Given the description of an element on the screen output the (x, y) to click on. 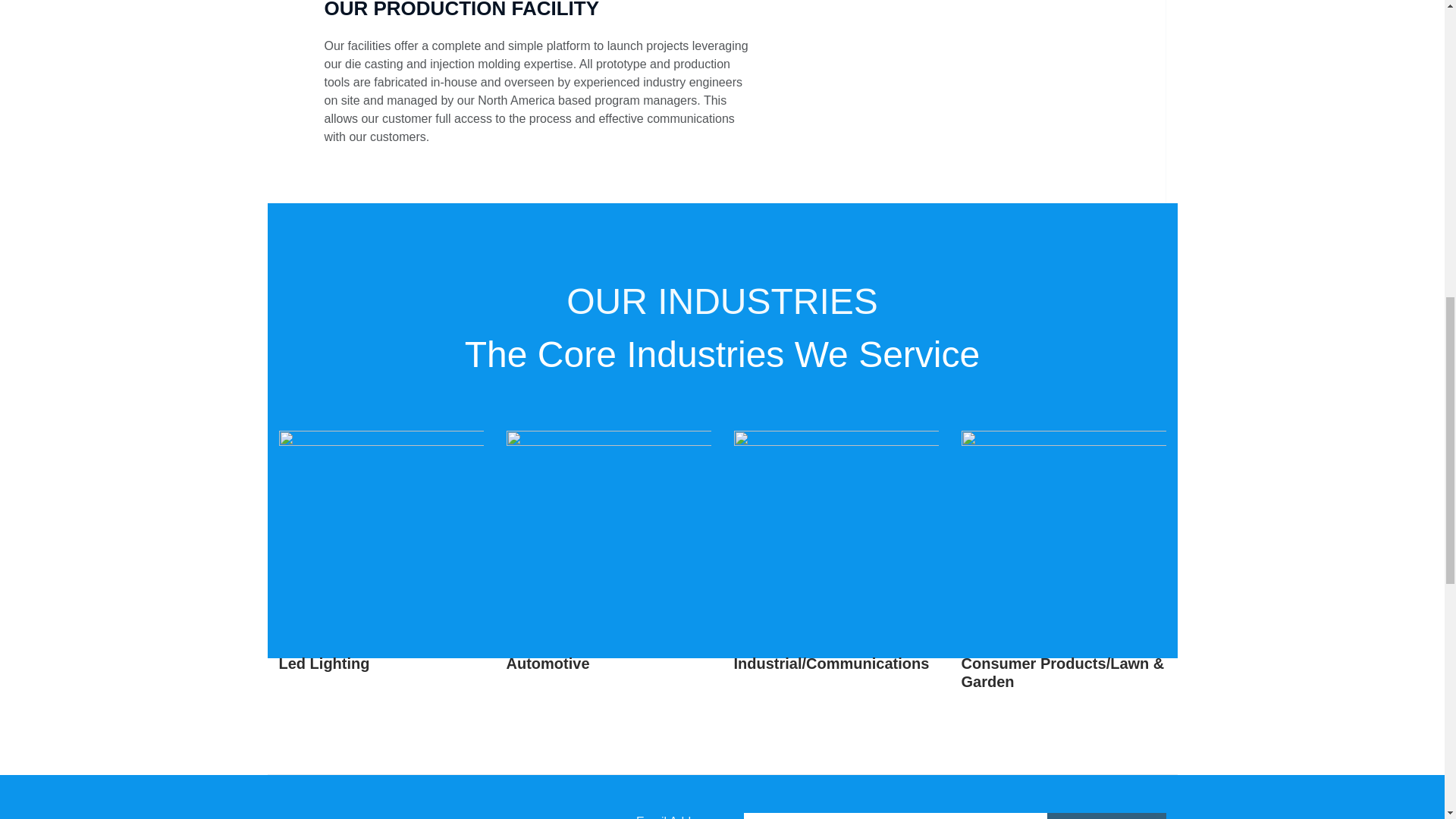
Automotive (547, 663)
SUBSCRIBE (1106, 816)
Led Lighting (324, 663)
